Given the description of an element on the screen output the (x, y) to click on. 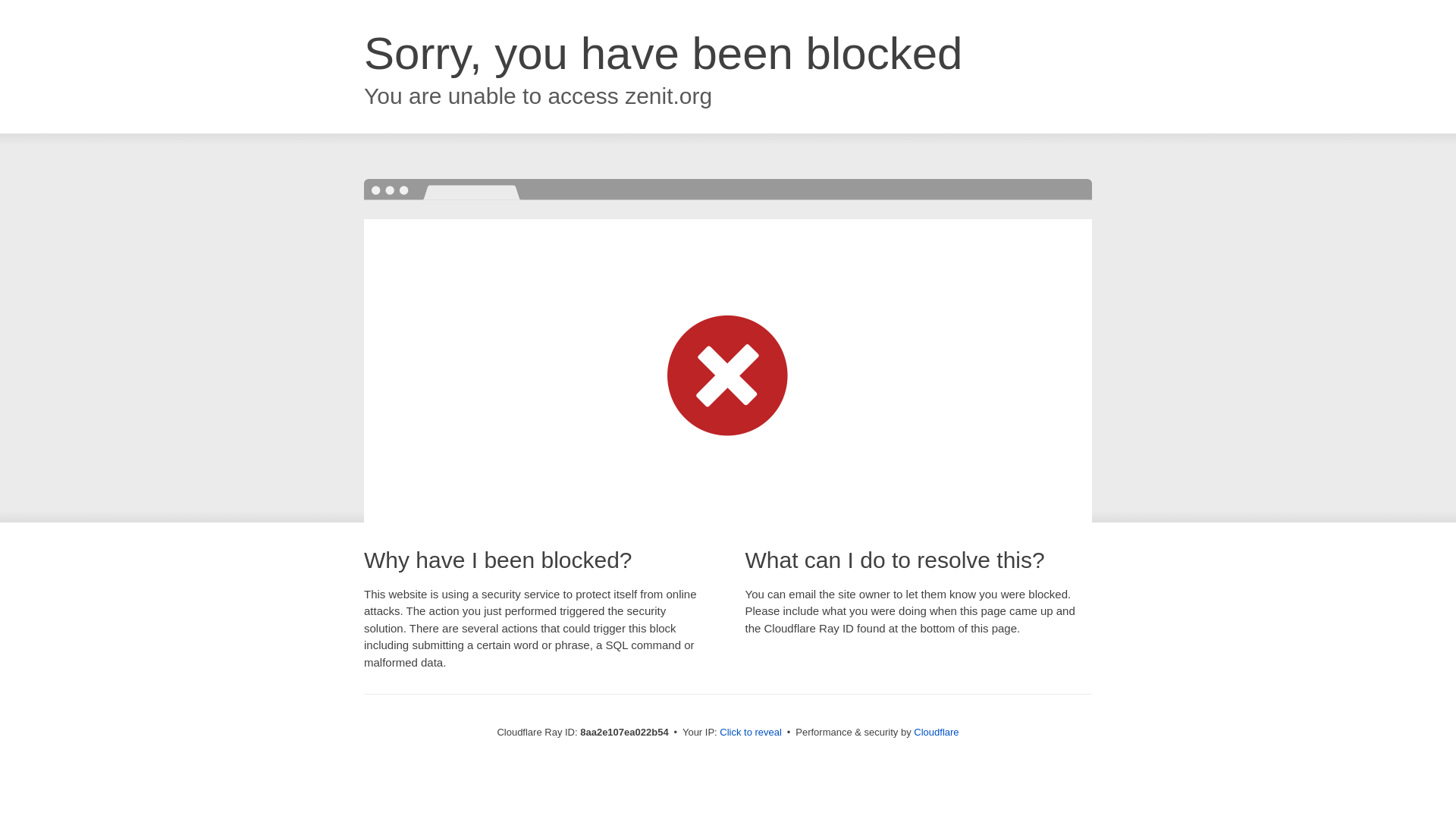
Cloudflare (936, 731)
Click to reveal (750, 732)
